Given the description of an element on the screen output the (x, y) to click on. 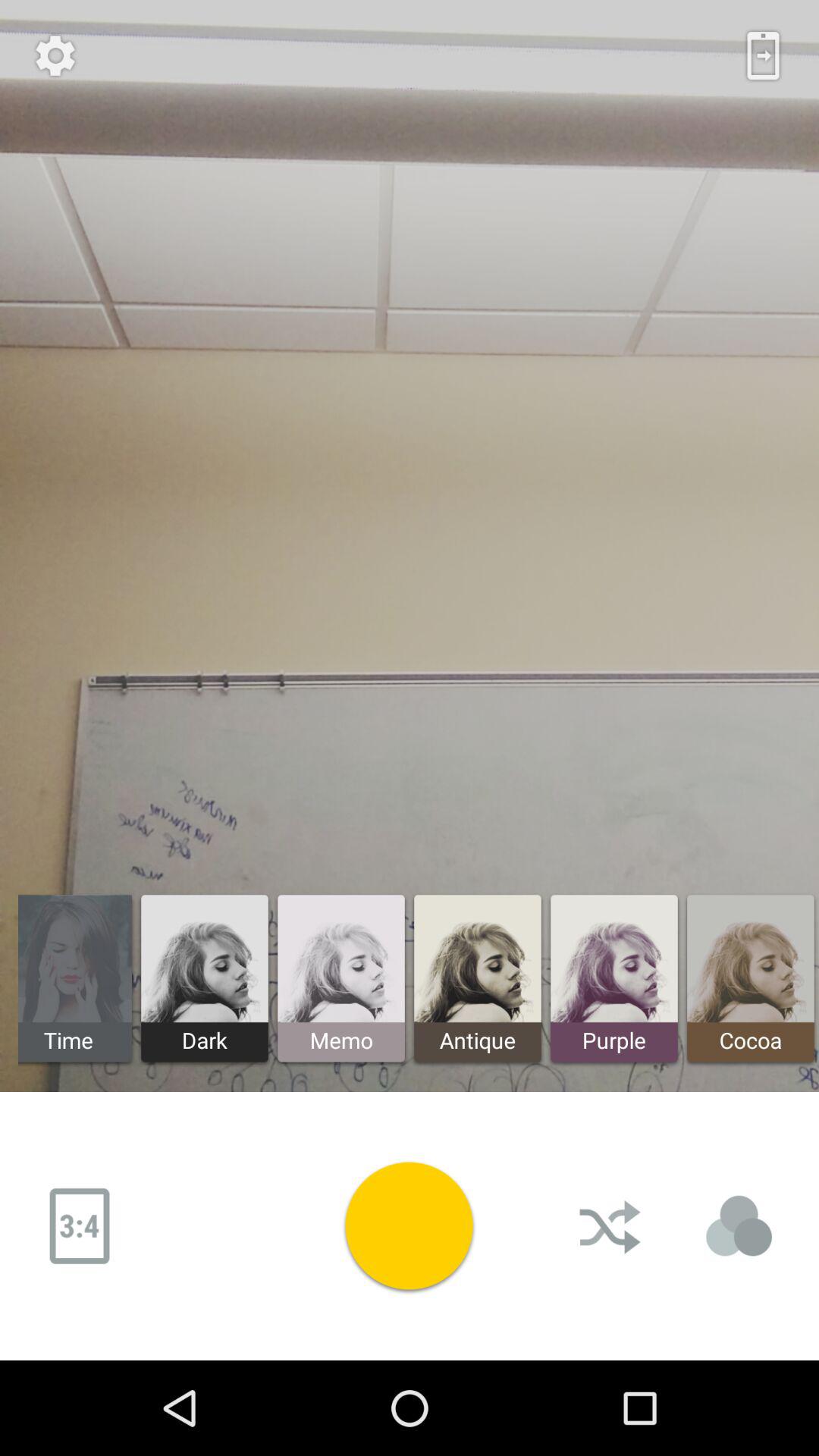
video play button (408, 1225)
